Given the description of an element on the screen output the (x, y) to click on. 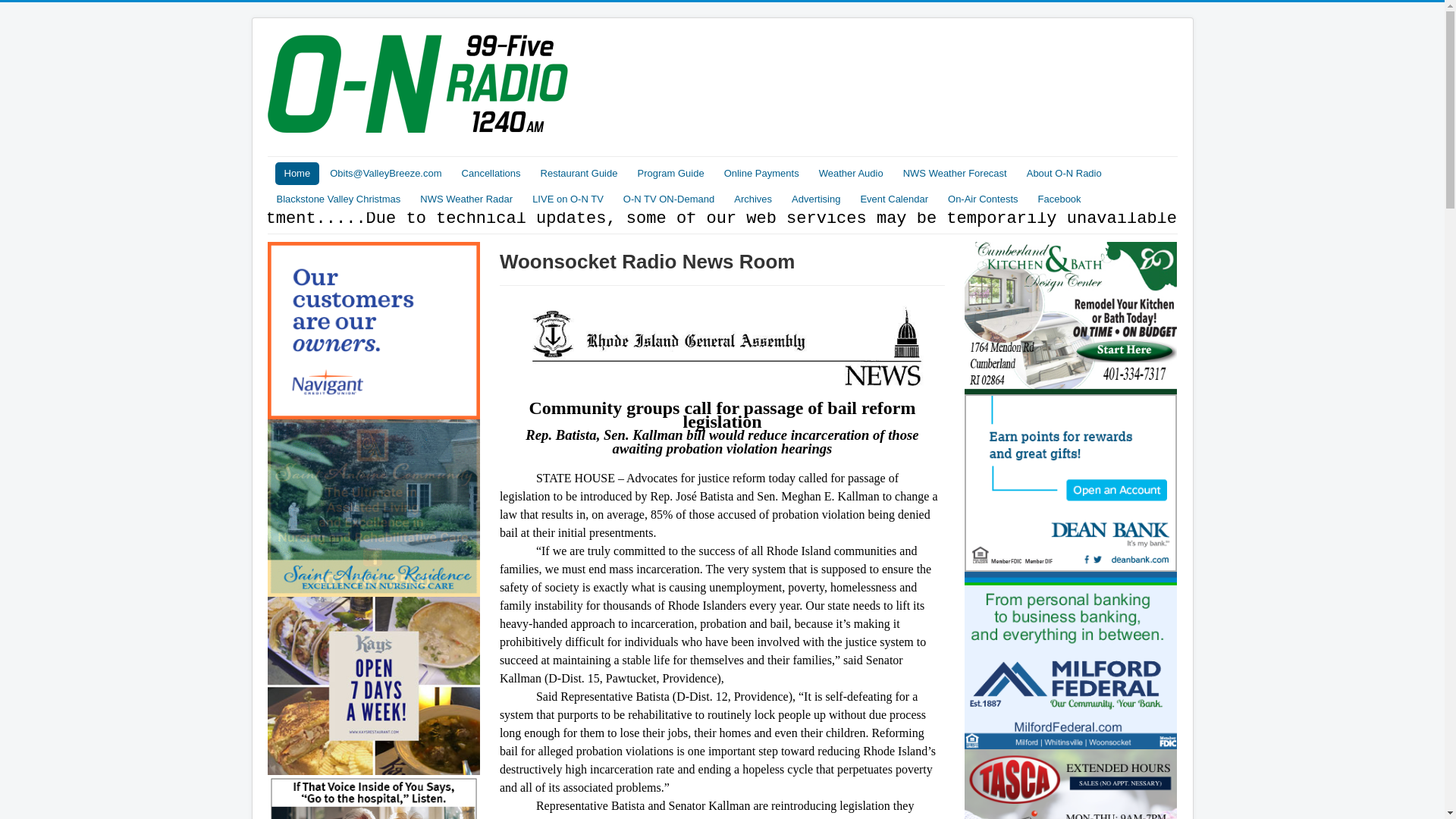
Archives (752, 199)
Dean Bank (1070, 481)
NWS Weather Radar (465, 199)
NWS Weather Forecast (954, 173)
Program Guide (670, 173)
Weather Audio (850, 173)
About O-N Radio (1063, 173)
Blackstone Valley Christmas (337, 199)
Milford Federal (1070, 659)
Home (296, 173)
